Given the description of an element on the screen output the (x, y) to click on. 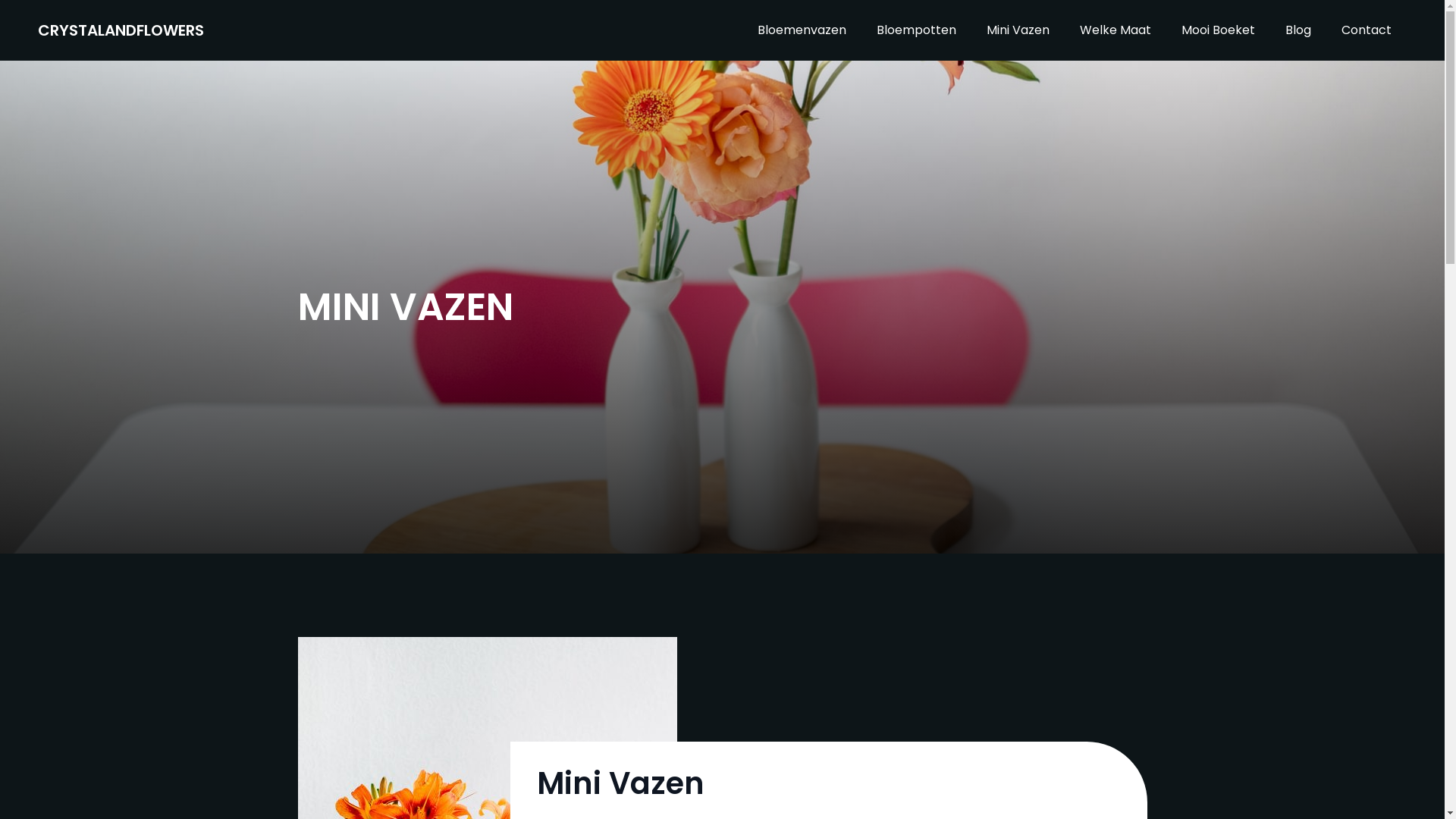
Contact Element type: text (1366, 30)
Welke Maat Element type: text (1115, 30)
Mooi Boeket Element type: text (1218, 30)
Mini Vazen Element type: text (1017, 30)
Bloemenvazen Element type: text (801, 30)
Bloempotten Element type: text (916, 30)
Blog Element type: text (1298, 30)
